Given the description of an element on the screen output the (x, y) to click on. 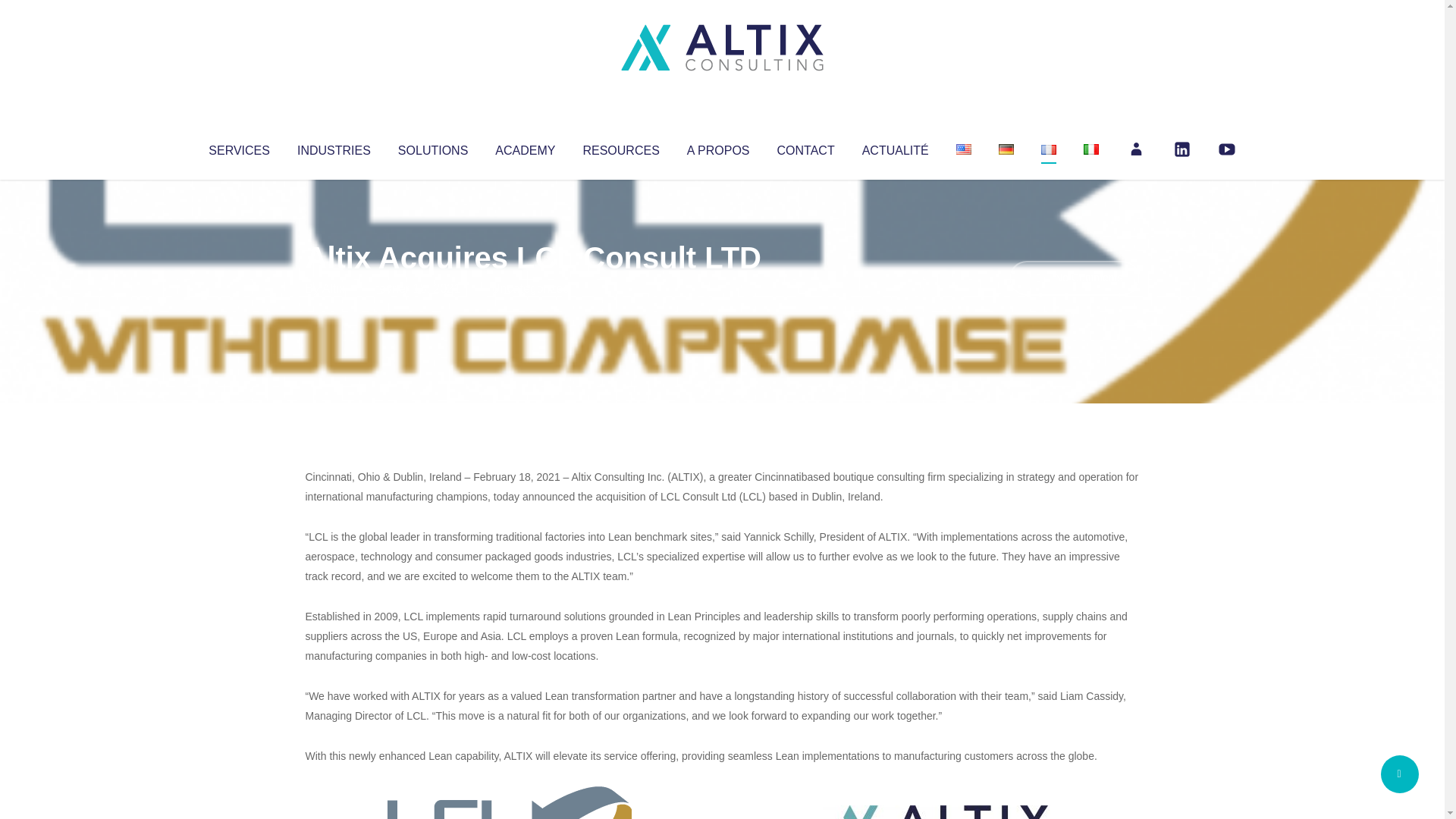
RESOURCES (620, 146)
No Comments (1073, 278)
INDUSTRIES (334, 146)
Altix (333, 287)
Articles par Altix (333, 287)
Uncategorized (530, 287)
A PROPOS (718, 146)
SOLUTIONS (432, 146)
ACADEMY (524, 146)
SERVICES (238, 146)
